Given the description of an element on the screen output the (x, y) to click on. 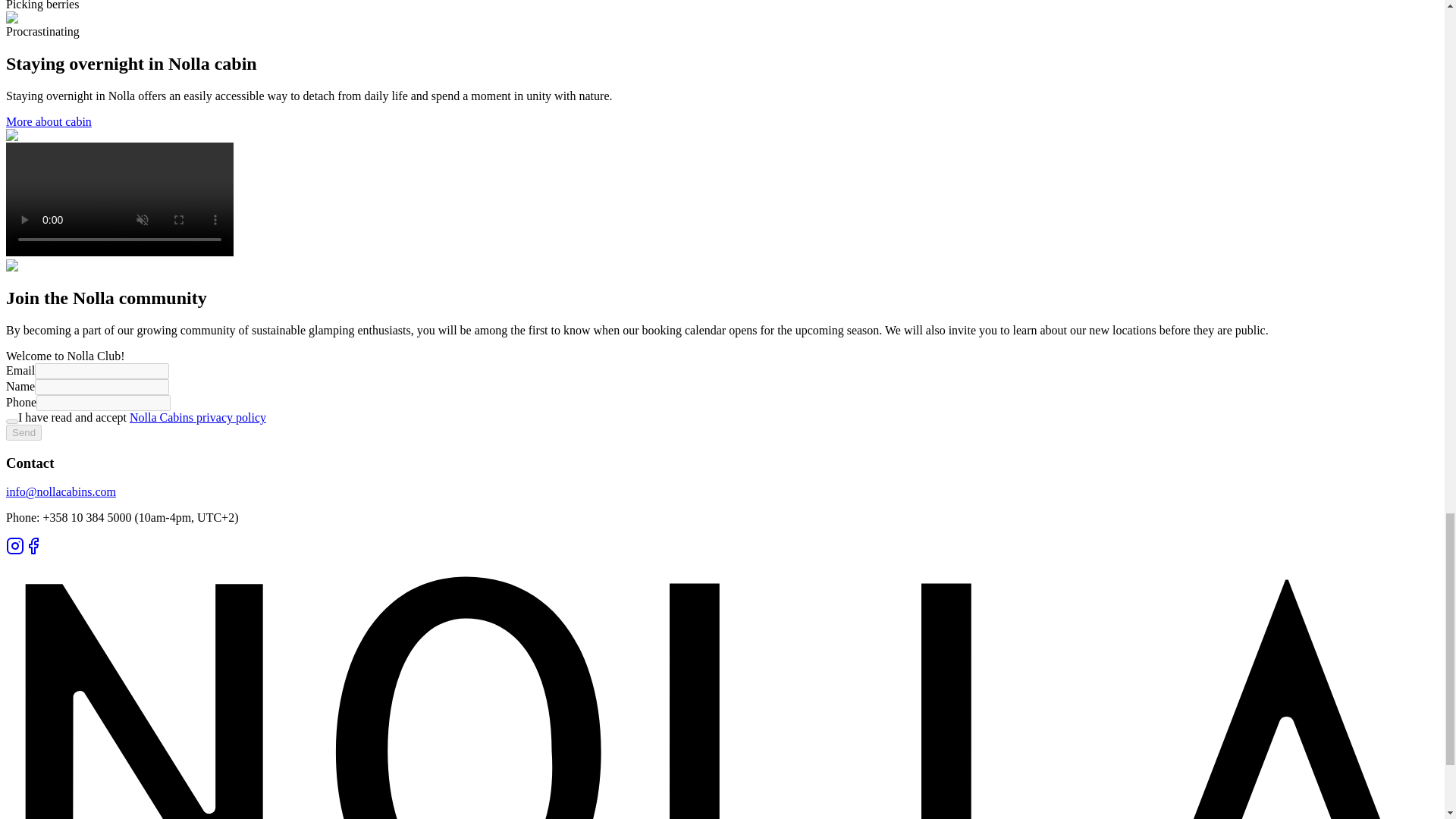
More about cabin (48, 121)
Send (23, 432)
Nolla Cabins privacy policy (197, 417)
on (11, 421)
